Given the description of an element on the screen output the (x, y) to click on. 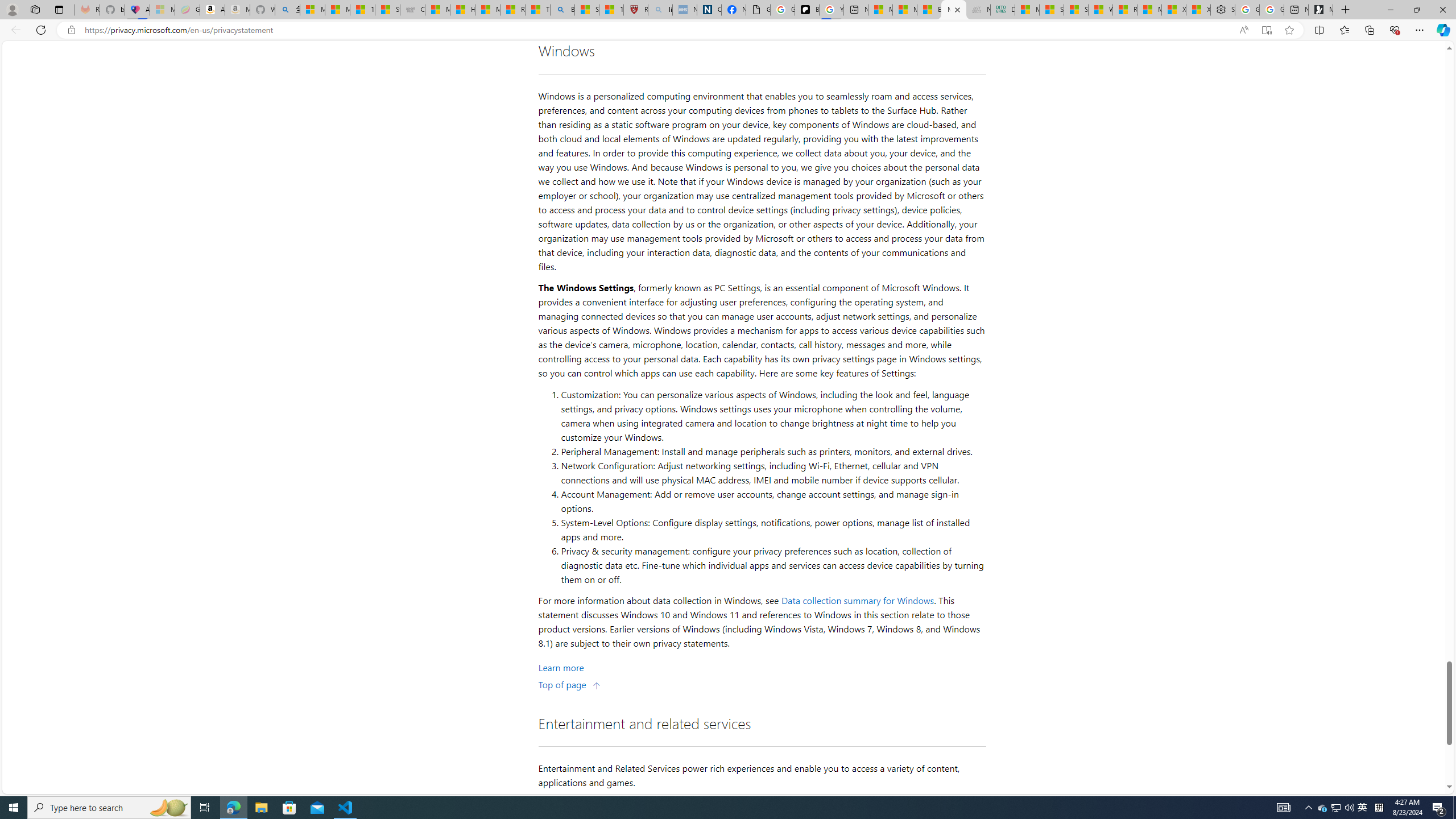
Bing (562, 9)
Data collection summary for Windows (857, 600)
